Given the description of an element on the screen output the (x, y) to click on. 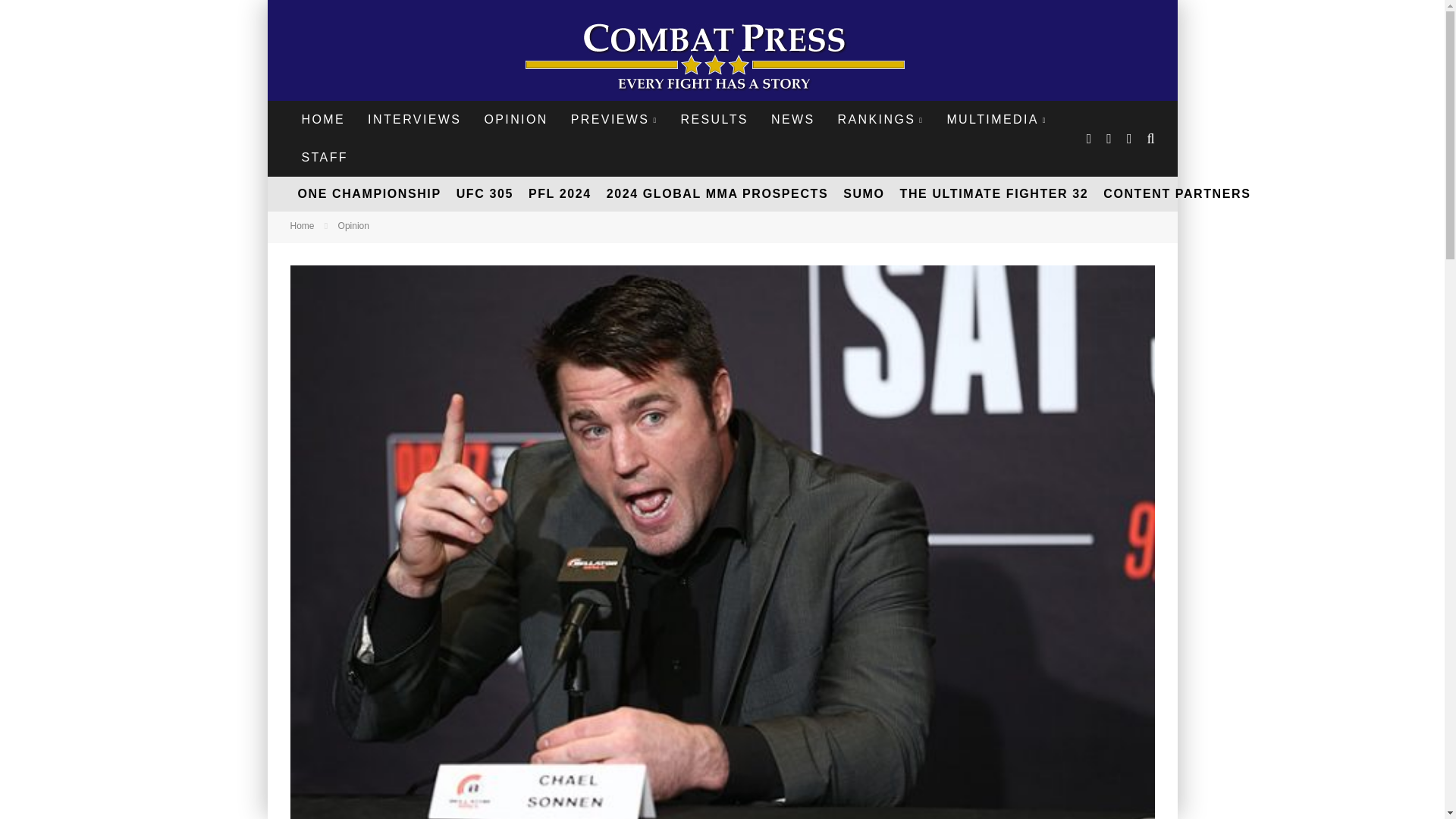
INTERVIEWS (413, 119)
HOME (322, 119)
OPINION (515, 119)
